Given the description of an element on the screen output the (x, y) to click on. 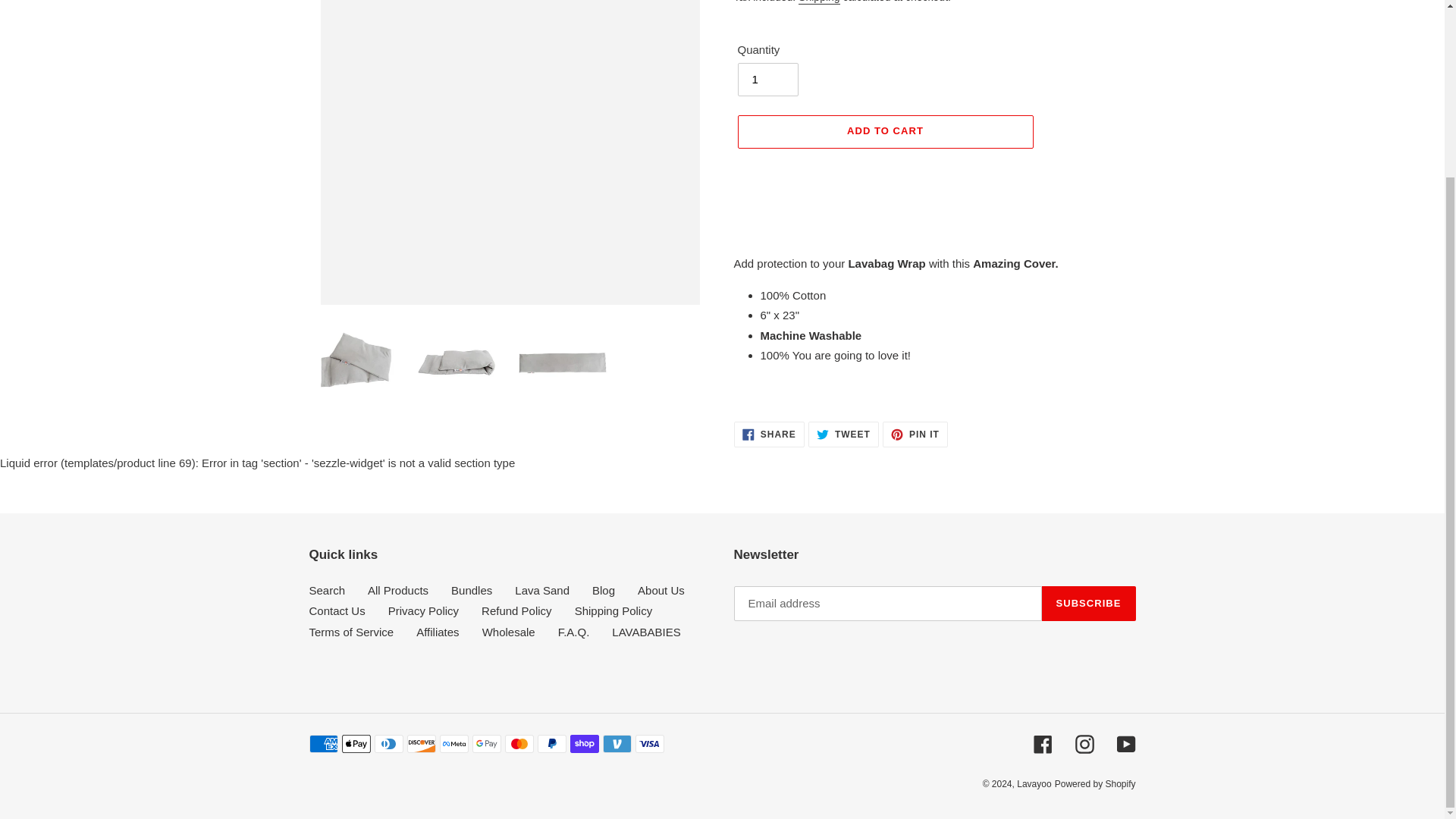
1 (766, 79)
Shipping (818, 2)
ADD TO CART (884, 131)
